Given the description of an element on the screen output the (x, y) to click on. 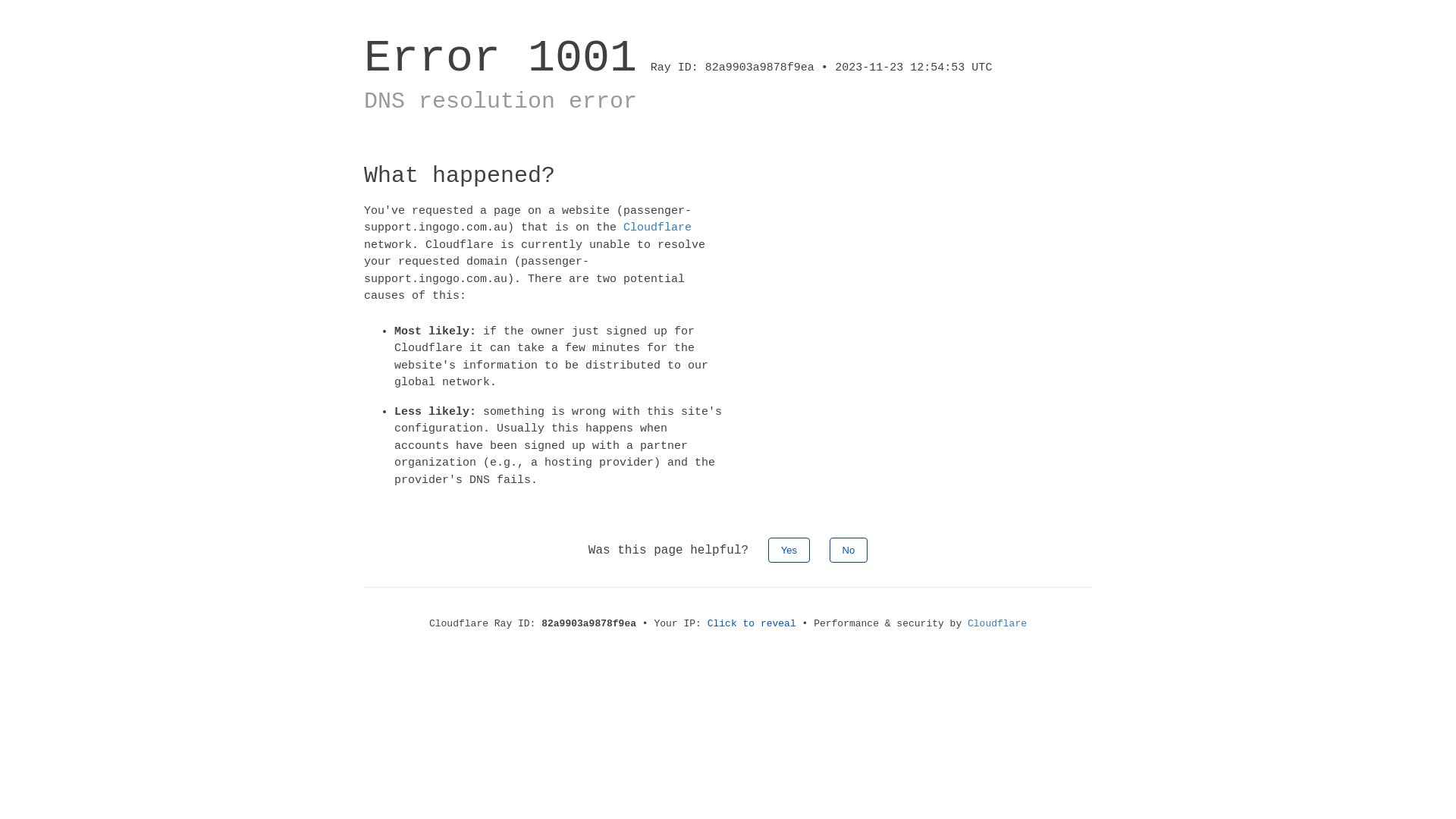
Yes Element type: text (788, 549)
Cloudflare Element type: text (657, 227)
No Element type: text (848, 549)
Cloudflare Element type: text (996, 623)
Click to reveal Element type: text (751, 623)
